Given the description of an element on the screen output the (x, y) to click on. 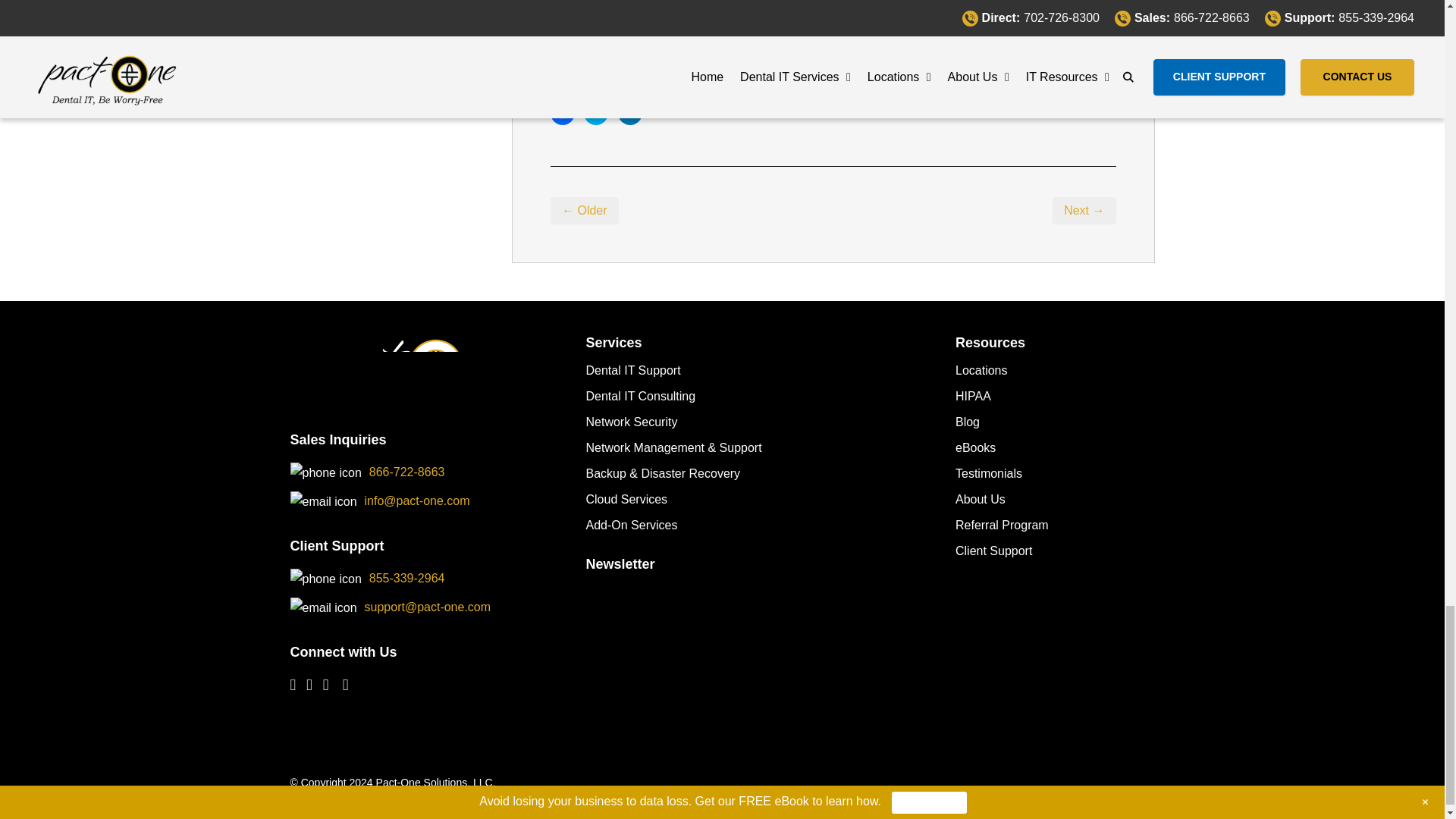
Click to share on LinkedIn (629, 112)
Click to share on Facebook (562, 112)
Form 0 (759, 639)
Click to share on Twitter (595, 112)
